Given the description of an element on the screen output the (x, y) to click on. 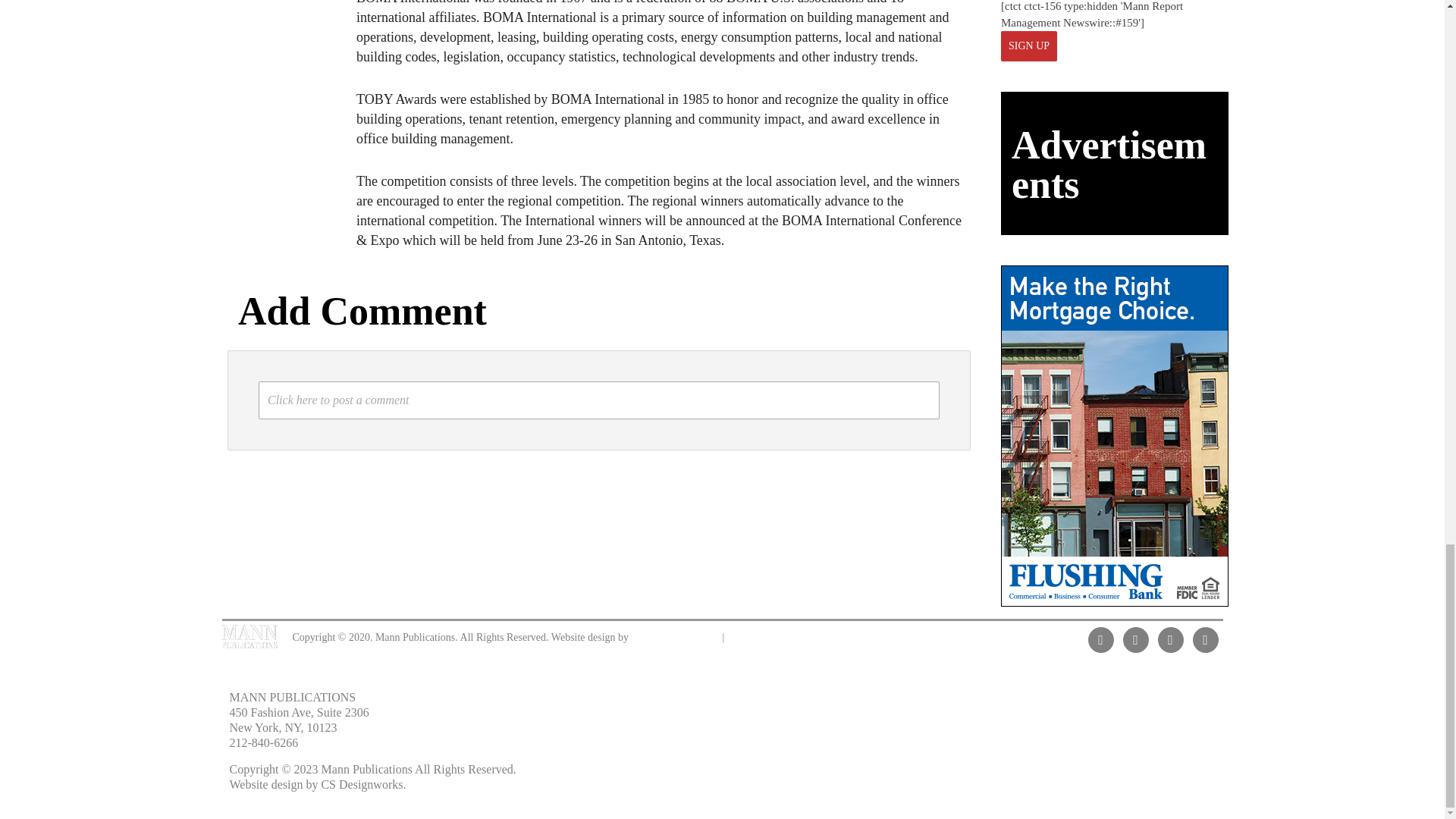
SIGN UP (1029, 46)
